Given the description of an element on the screen output the (x, y) to click on. 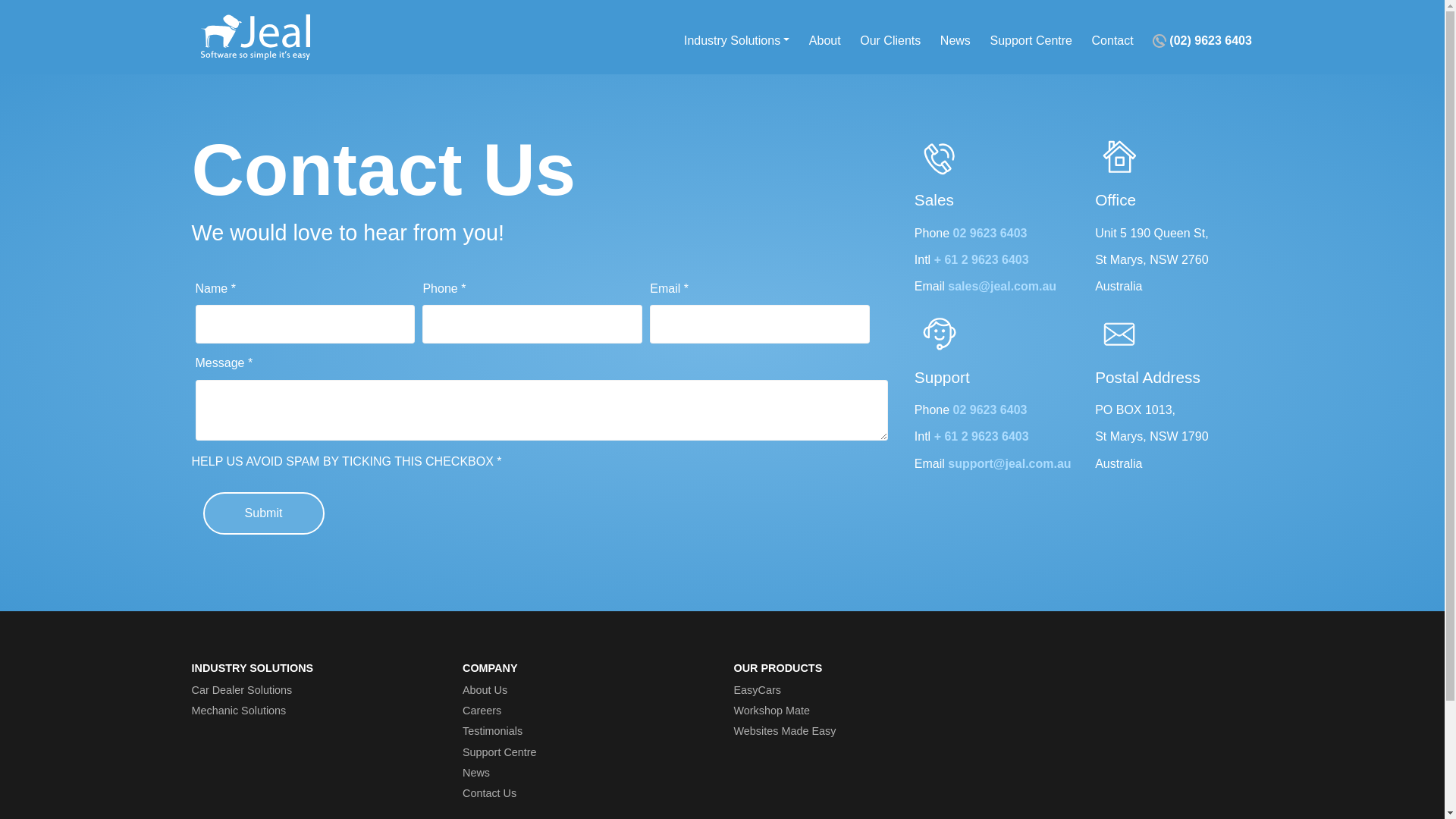
Industry Solutions Element type: text (736, 40)
+ 61 2 9623 6403 Element type: text (981, 435)
Jeal - Simple Software Solutions Element type: hover (255, 37)
02 9623 6403 Element type: text (990, 409)
Careers Element type: text (481, 710)
Our Clients Element type: text (890, 40)
Websites Made Easy Element type: text (785, 730)
Contact Element type: text (1112, 40)
Submit Element type: text (263, 513)
support@jeal.com.au Element type: text (1008, 462)
News Element type: text (475, 772)
(02) 9623 6403 Element type: text (1202, 40)
EasyCars Element type: text (757, 690)
Support Centre Element type: text (1031, 40)
About Us Element type: text (484, 690)
Mechanic Solutions Element type: text (238, 710)
Support Centre Element type: text (499, 752)
sales@jeal.com.au Element type: text (1001, 285)
Testimonials Element type: text (492, 730)
Workshop Mate Element type: text (772, 710)
+ 61 2 9623 6403 Element type: text (981, 259)
News Element type: text (955, 40)
About Element type: text (824, 40)
02 9623 6403 Element type: text (990, 232)
Contact Us Element type: text (489, 793)
Car Dealer Solutions Element type: text (241, 690)
